Given the description of an element on the screen output the (x, y) to click on. 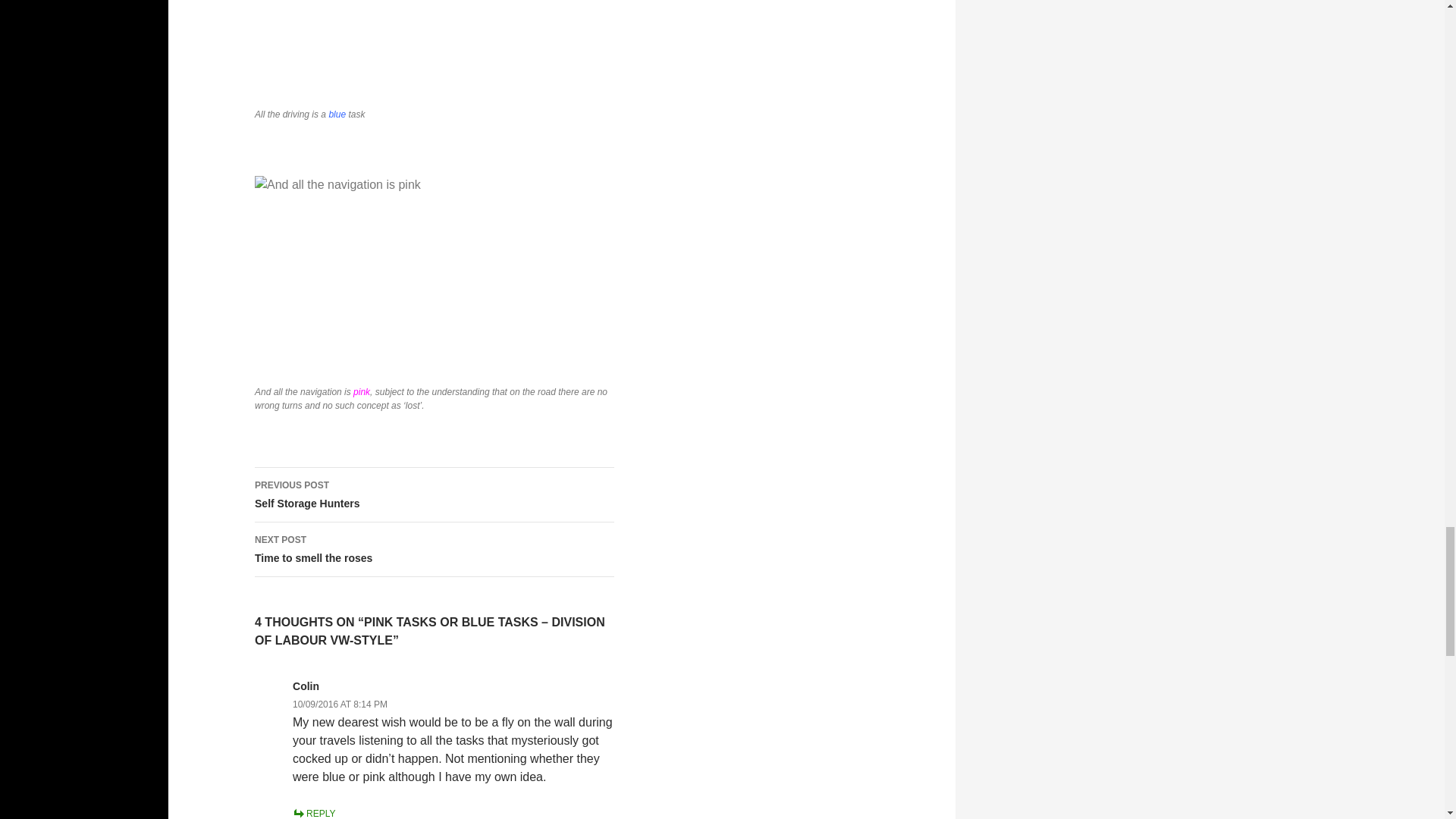
REPLY (313, 813)
